Given the description of an element on the screen output the (x, y) to click on. 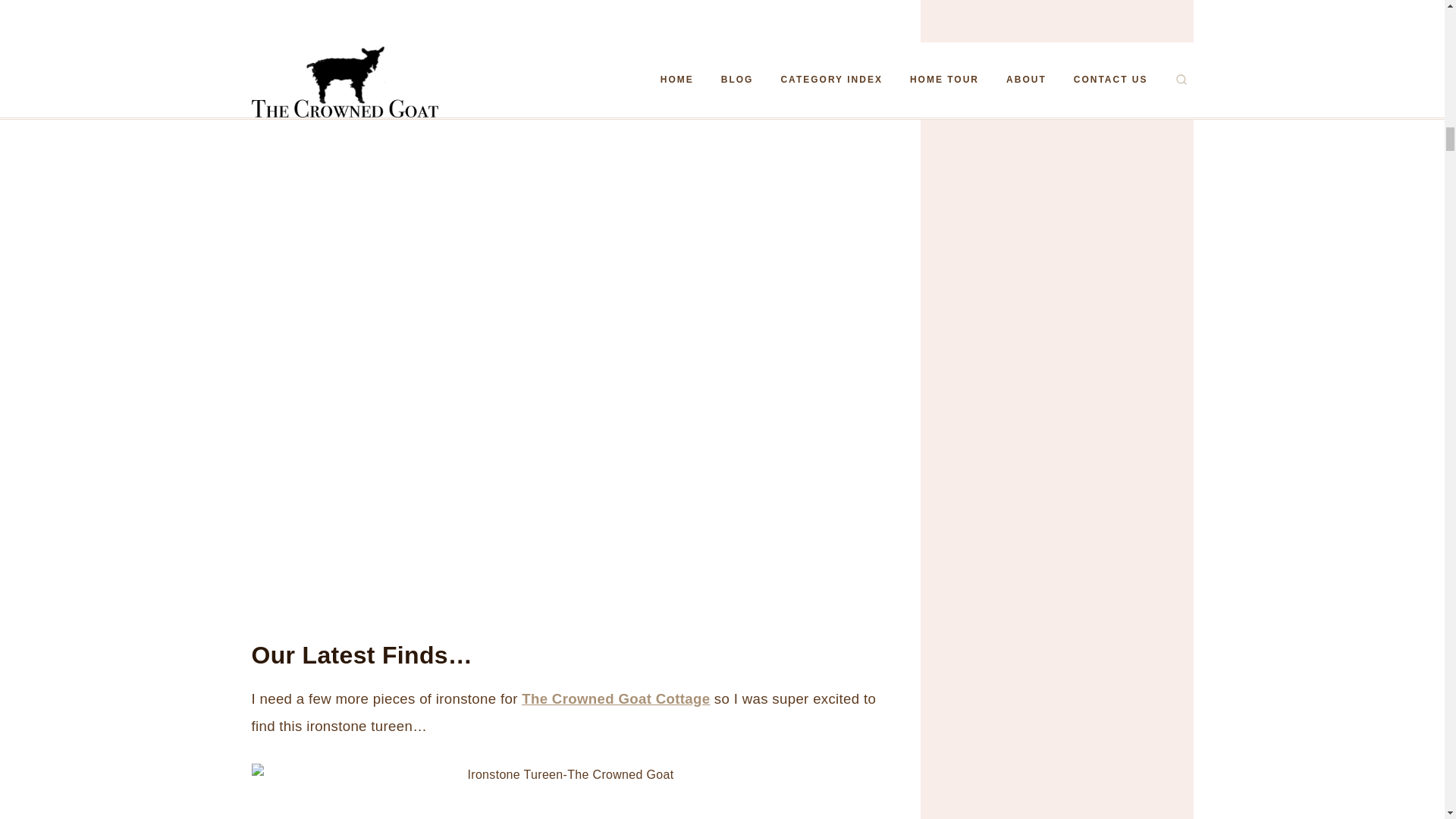
The Crowned Goat Cottage (615, 698)
